Given the description of an element on the screen output the (x, y) to click on. 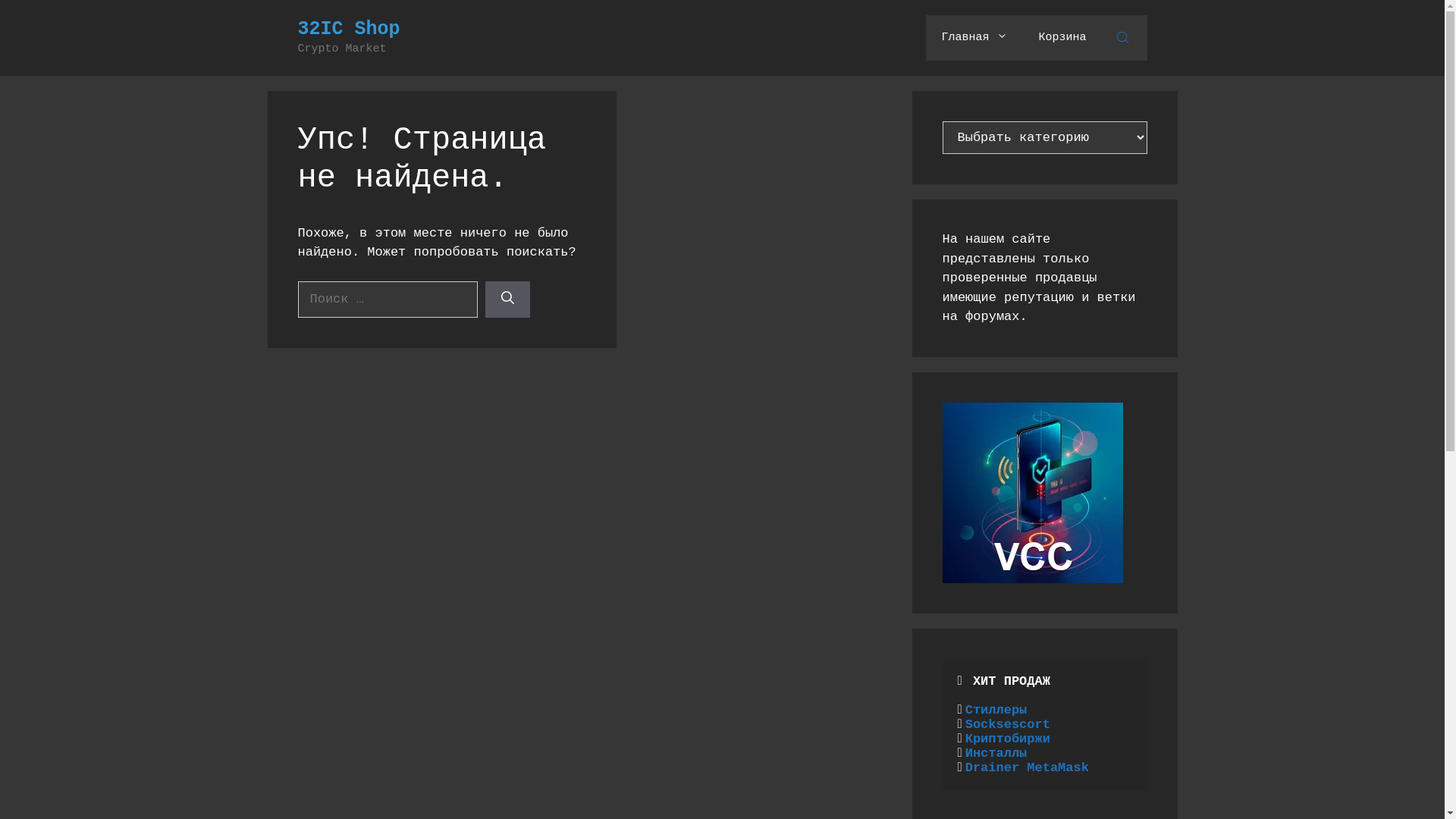
Drainer MetaMask Element type: text (1026, 766)
32IC Shop Element type: text (348, 29)
Socksescort Element type: text (1007, 724)
